Given the description of an element on the screen output the (x, y) to click on. 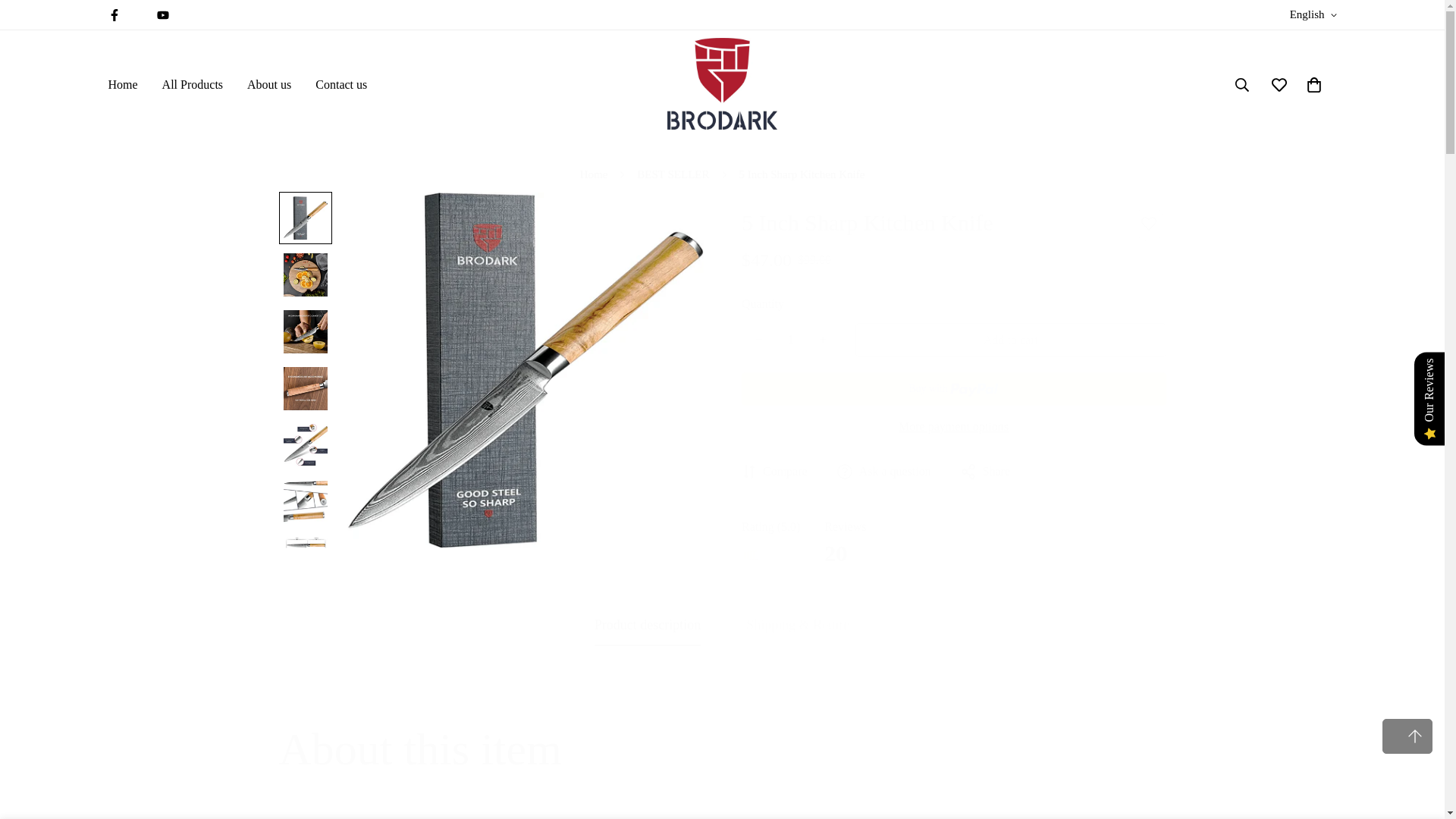
brodarkhome (721, 84)
Contact us (340, 84)
BEST SELLER (673, 174)
Home (594, 174)
Home (122, 84)
Back to the home page (594, 174)
All Products (191, 84)
1 (789, 339)
About us (268, 84)
